Given the description of an element on the screen output the (x, y) to click on. 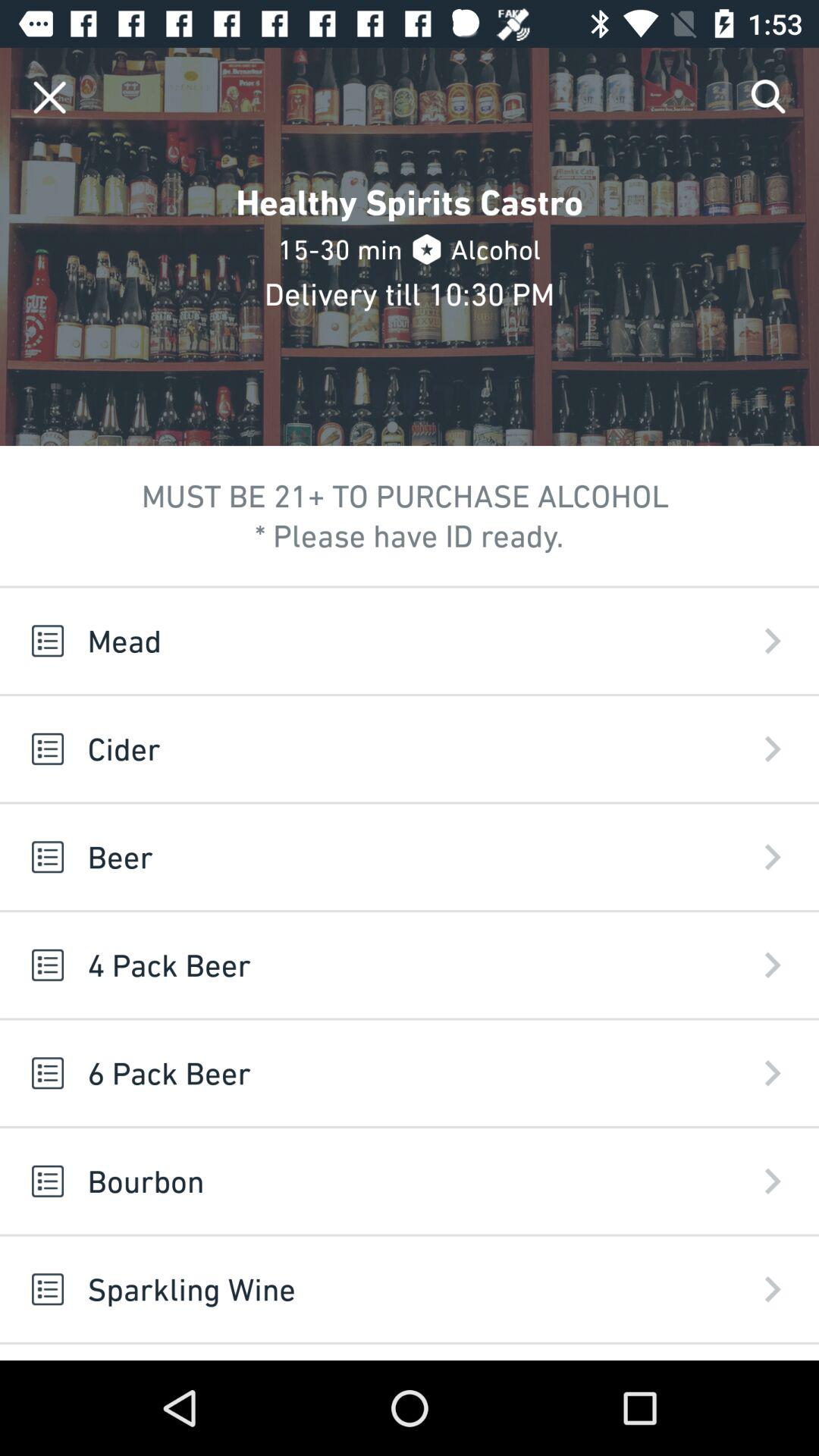
search icon (769, 97)
